Given the description of an element on the screen output the (x, y) to click on. 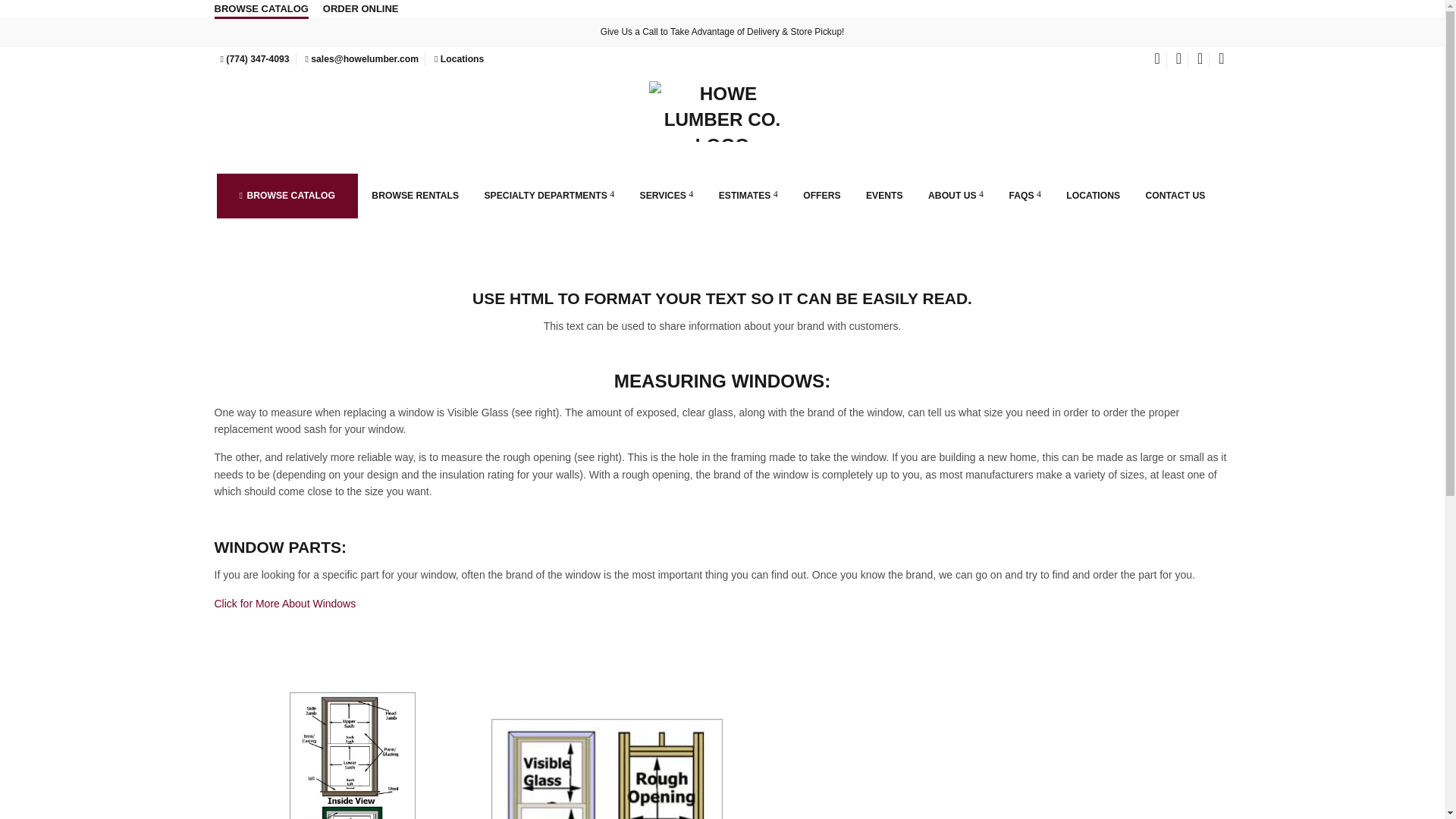
Howe Lumber on Tiktok (1221, 60)
Howe Lumber on Instagram (1178, 60)
Tiktok (1221, 60)
Browse Catalog (260, 9)
Instagram (1178, 60)
Order Online (360, 8)
YouTube (1199, 60)
Facebook (1157, 60)
 Locations (458, 59)
Howe Lumber on Facebook (1157, 60)
BROWSE CATALOG (260, 9)
ORDER ONLINE (360, 8)
Howe Lumber on YouTube (1199, 60)
